Given the description of an element on the screen output the (x, y) to click on. 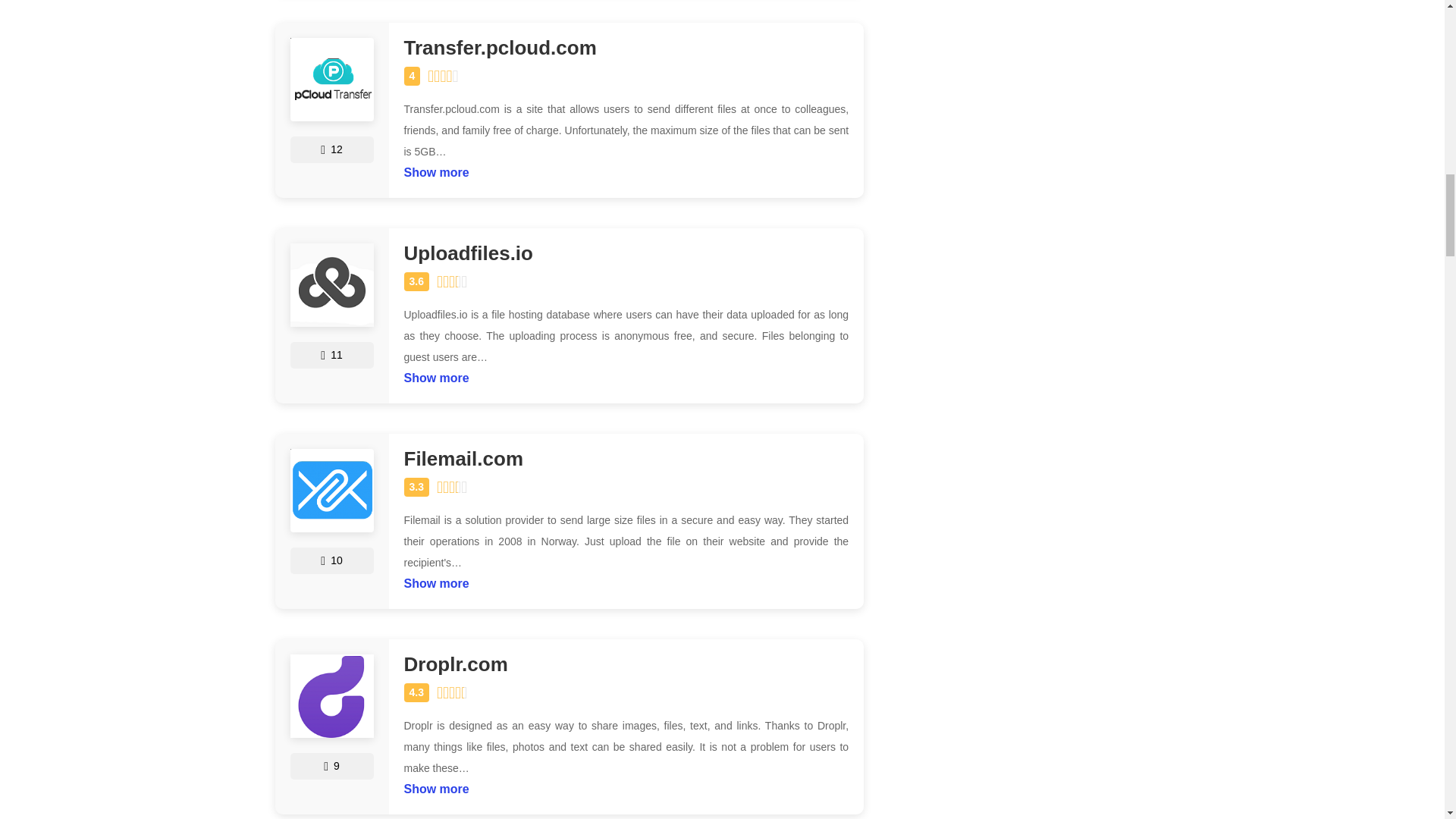
Show more (435, 579)
Show more (435, 168)
Show more (435, 784)
Show more (435, 373)
Filemail.com (625, 458)
Transfer.pcloud.com (625, 47)
Droplr.com (625, 664)
Uploadfiles.io (625, 253)
